Given the description of an element on the screen output the (x, y) to click on. 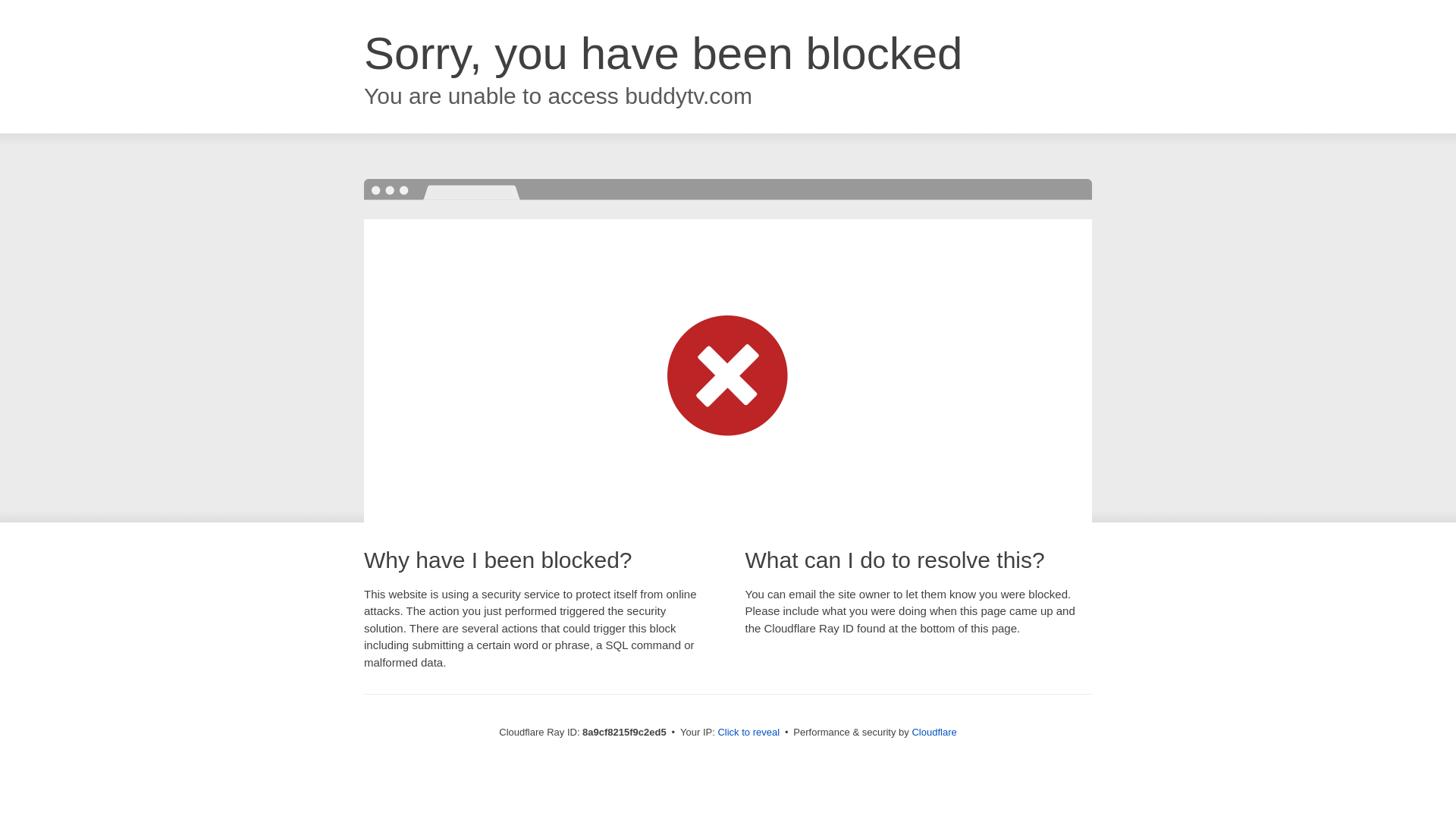
Cloudflare (933, 731)
Click to reveal (747, 732)
